Given the description of an element on the screen output the (x, y) to click on. 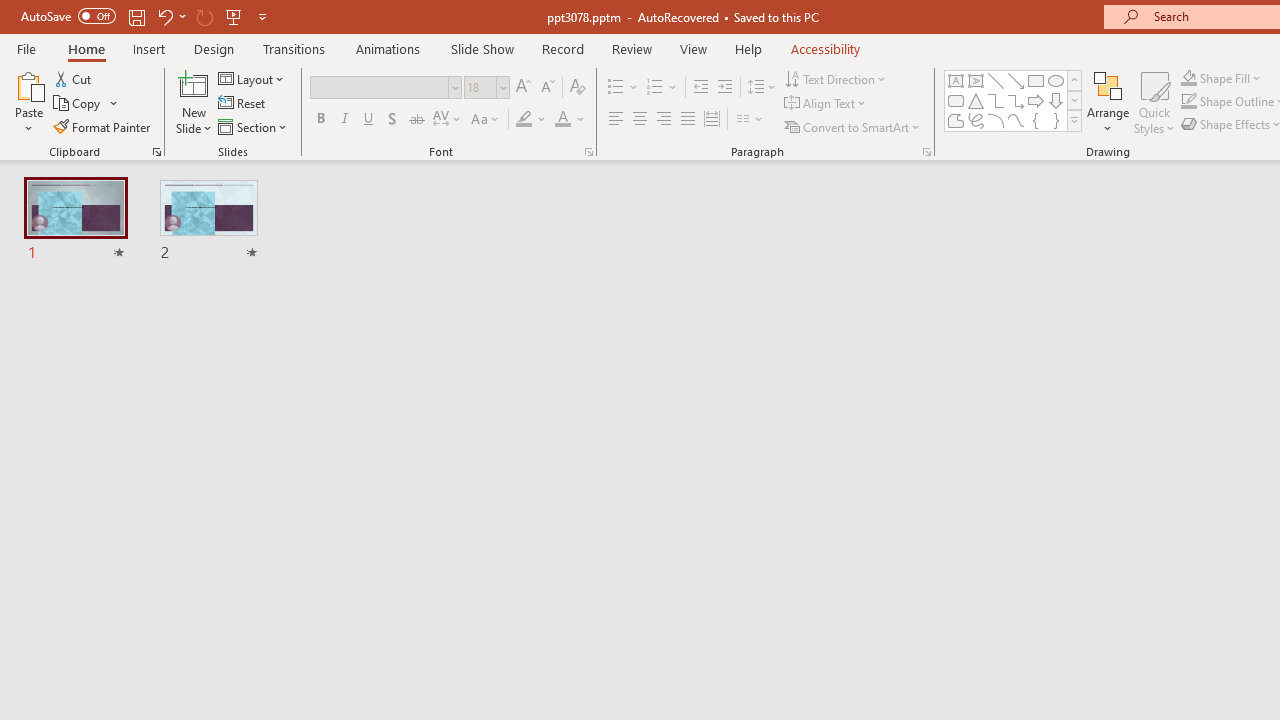
Arc (995, 120)
Align Text (826, 103)
Format Painter (103, 126)
AutomationID: ShapesInsertGallery (1014, 100)
Arrow: Down (1055, 100)
Cut (73, 78)
Text Box (955, 80)
Arrow: Right (1035, 100)
Decrease Font Size (547, 87)
Reset (243, 103)
Customize Quick Access Toolbar (262, 15)
Distributed (712, 119)
Rectangle (1035, 80)
Curve (1016, 120)
Center (639, 119)
